Given the description of an element on the screen output the (x, y) to click on. 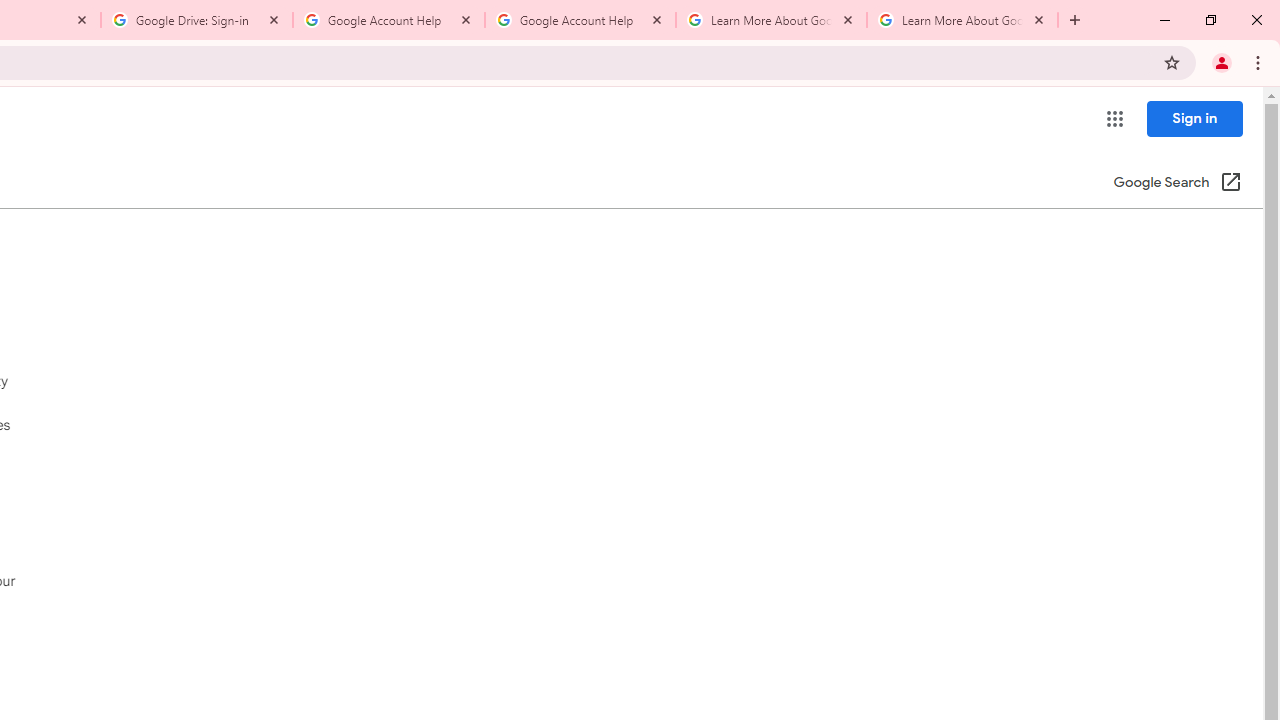
Google Search (Open in a new window) (1177, 183)
Google Account Help (580, 20)
